Given the description of an element on the screen output the (x, y) to click on. 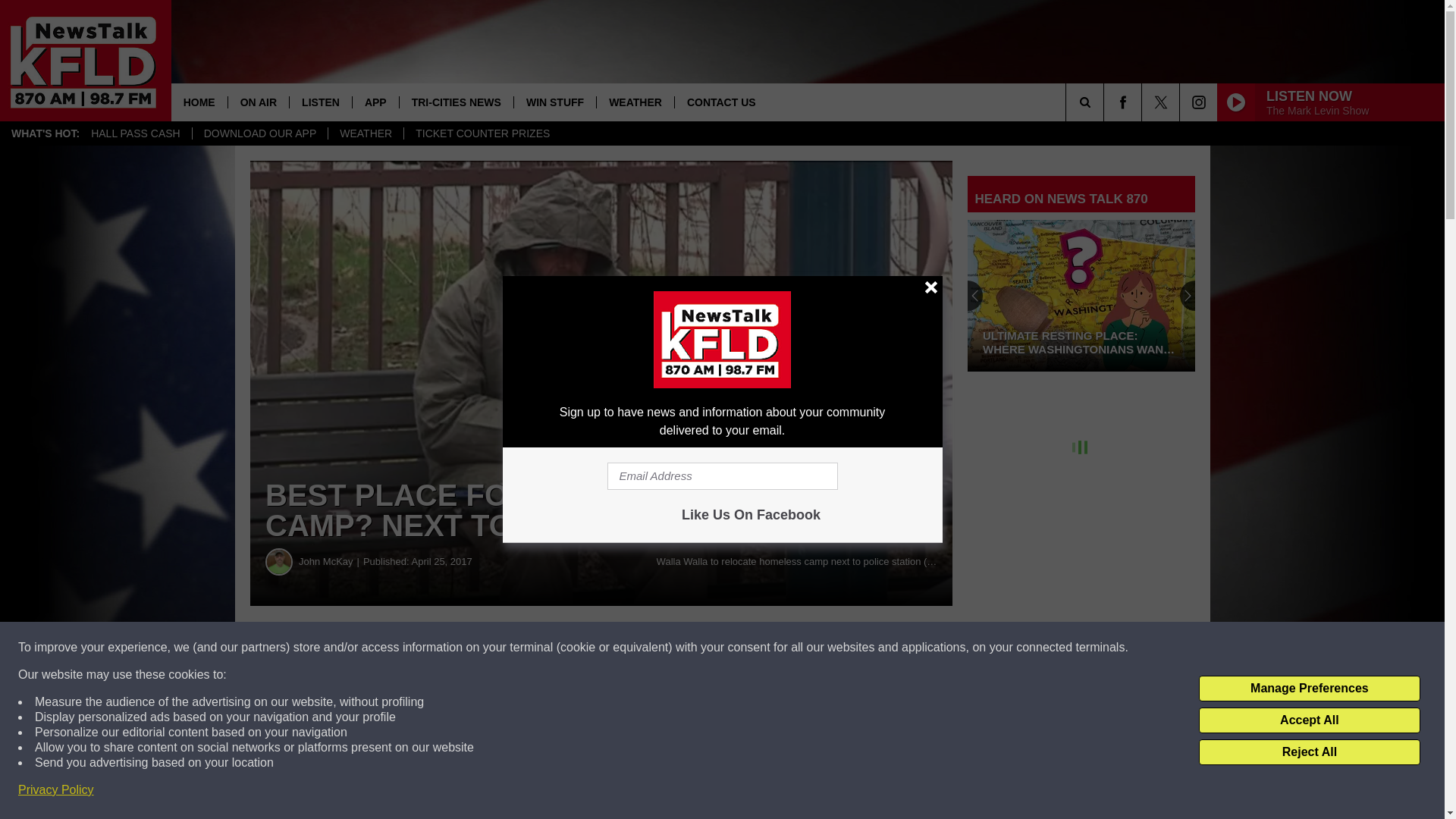
WIN STUFF (554, 102)
APP (375, 102)
Email Address (722, 475)
TICKET COUNTER PRIZES (481, 133)
Privacy Policy (55, 789)
HOME (199, 102)
Share on Twitter (741, 647)
Reject All (1309, 751)
Manage Preferences (1309, 688)
WEATHER (365, 133)
WEATHER (634, 102)
LISTEN (320, 102)
TRI-CITIES NEWS (455, 102)
SEARCH (1106, 102)
SEARCH (1106, 102)
